Given the description of an element on the screen output the (x, y) to click on. 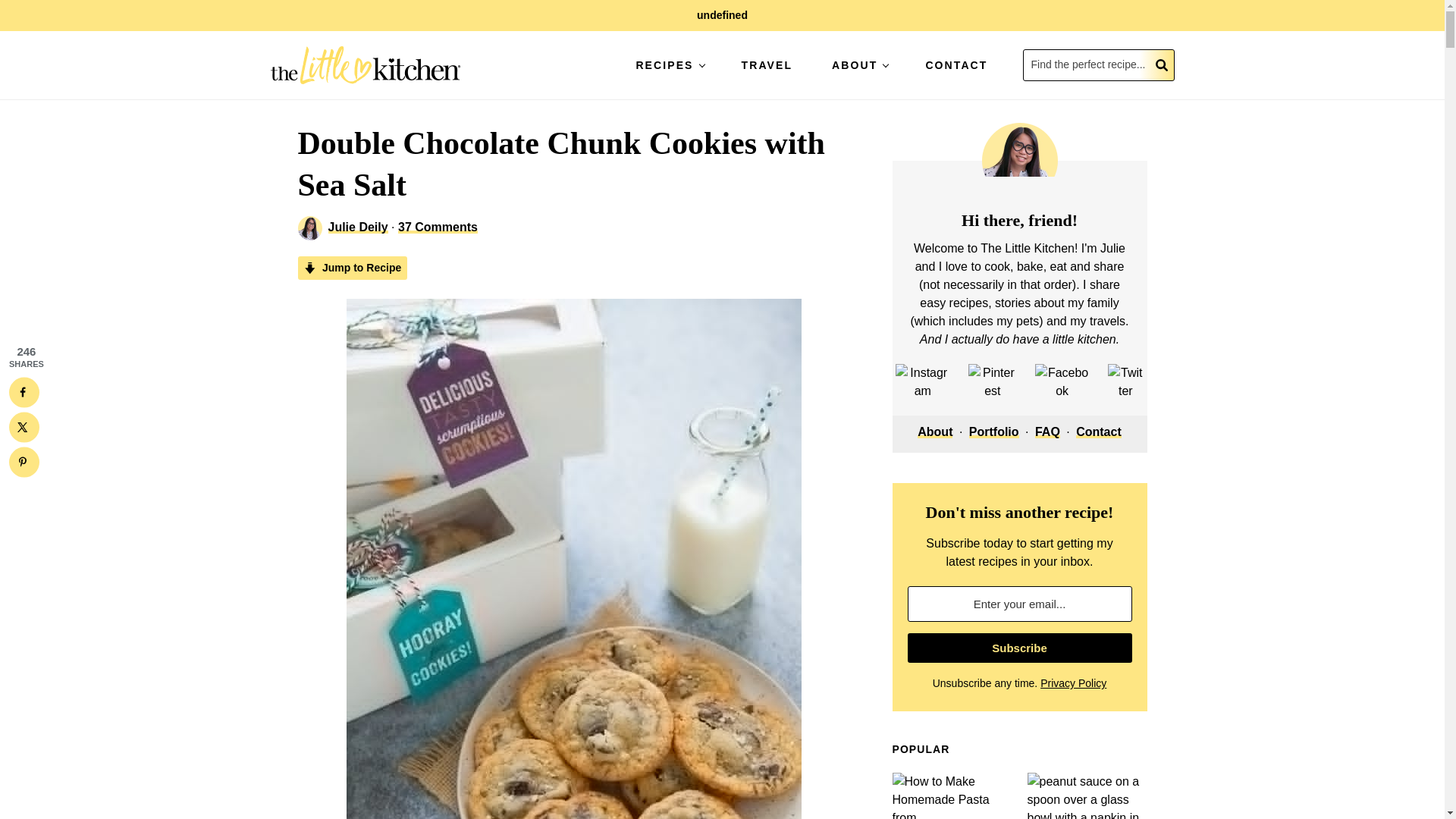
37 Comments (437, 226)
RECIPES (668, 64)
CONTACT (955, 64)
TRAVEL (767, 64)
Jump to Recipe (352, 268)
ABOUT (858, 64)
Submit search (1161, 64)
Submit search (1161, 64)
Julie Deily (357, 226)
